Given the description of an element on the screen output the (x, y) to click on. 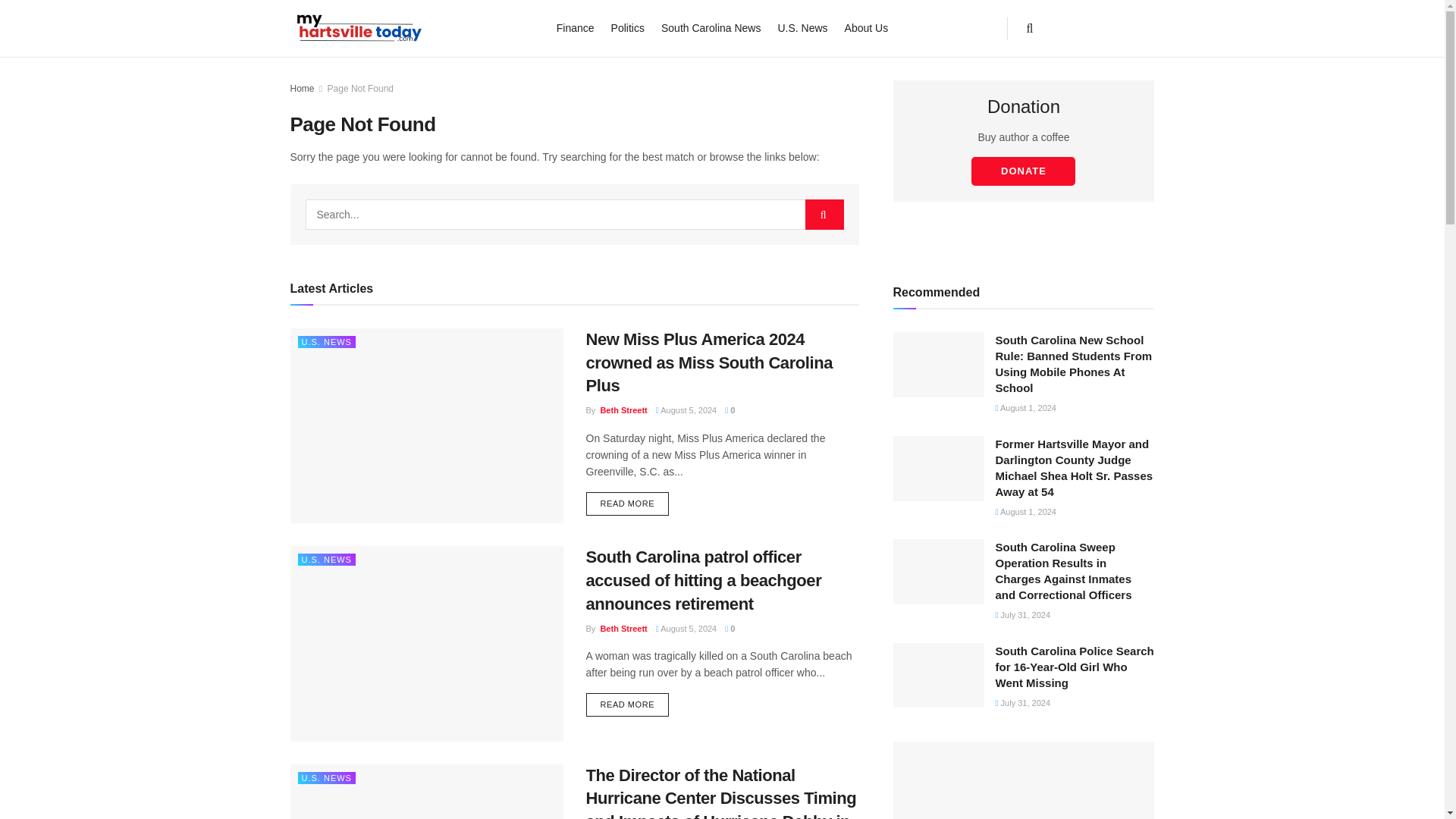
August 5, 2024 (686, 409)
Home (301, 88)
U.S. NEWS (326, 777)
Politics (628, 27)
Beth Streett (622, 628)
0 (730, 409)
South Carolina News (711, 27)
READ MORE (626, 704)
